Given the description of an element on the screen output the (x, y) to click on. 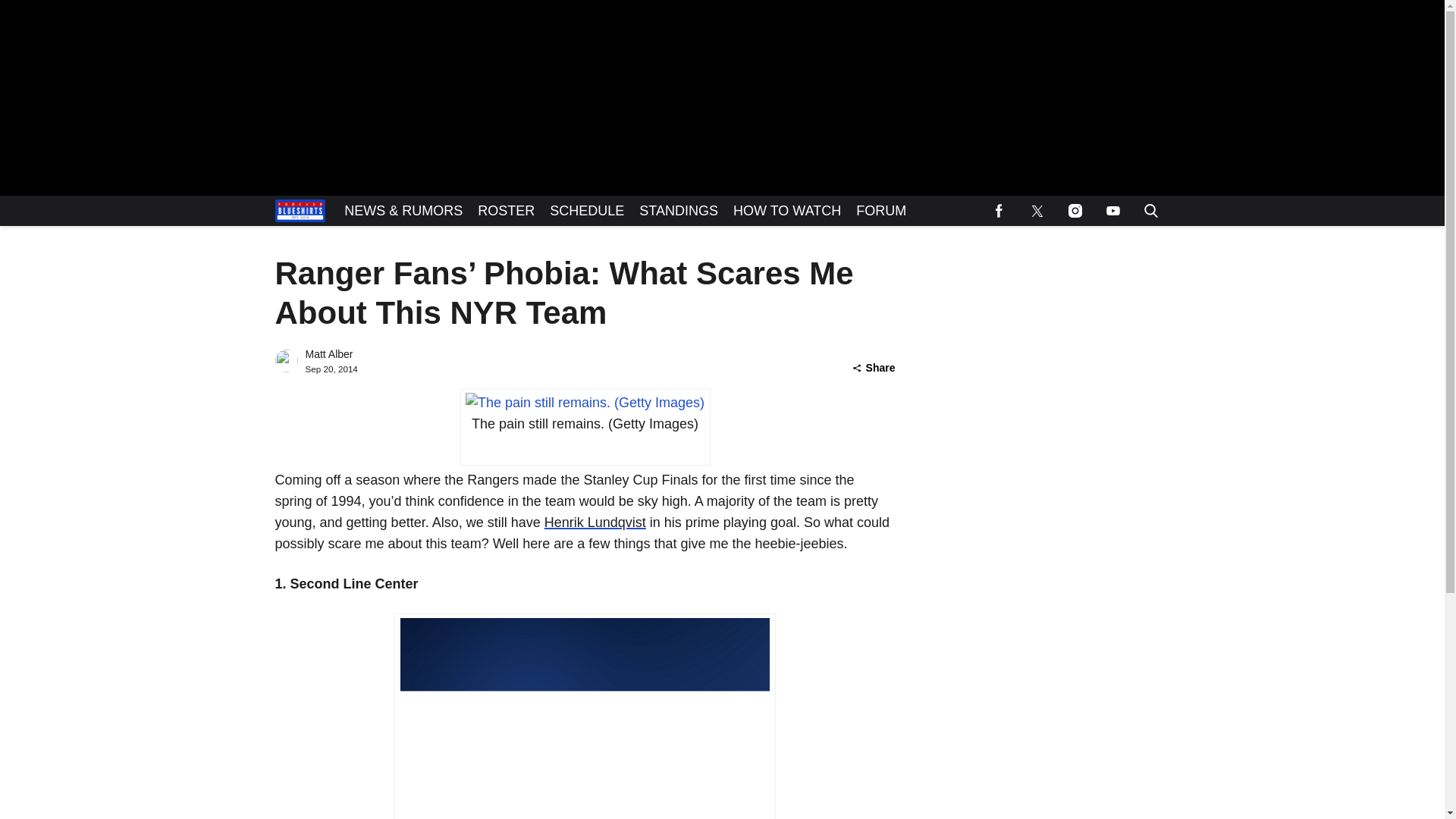
ROSTER (505, 210)
STANDINGS (678, 210)
Follow us on Twitter (1036, 210)
Henrik Lundqvist (595, 521)
Subscribe to our YouTube channel (1112, 210)
SCHEDULE (586, 210)
Follow us on Facebook (998, 210)
Follow us on Instagram (1074, 210)
Matt Alber (328, 354)
Henrik Lundqvist (595, 521)
